Given the description of an element on the screen output the (x, y) to click on. 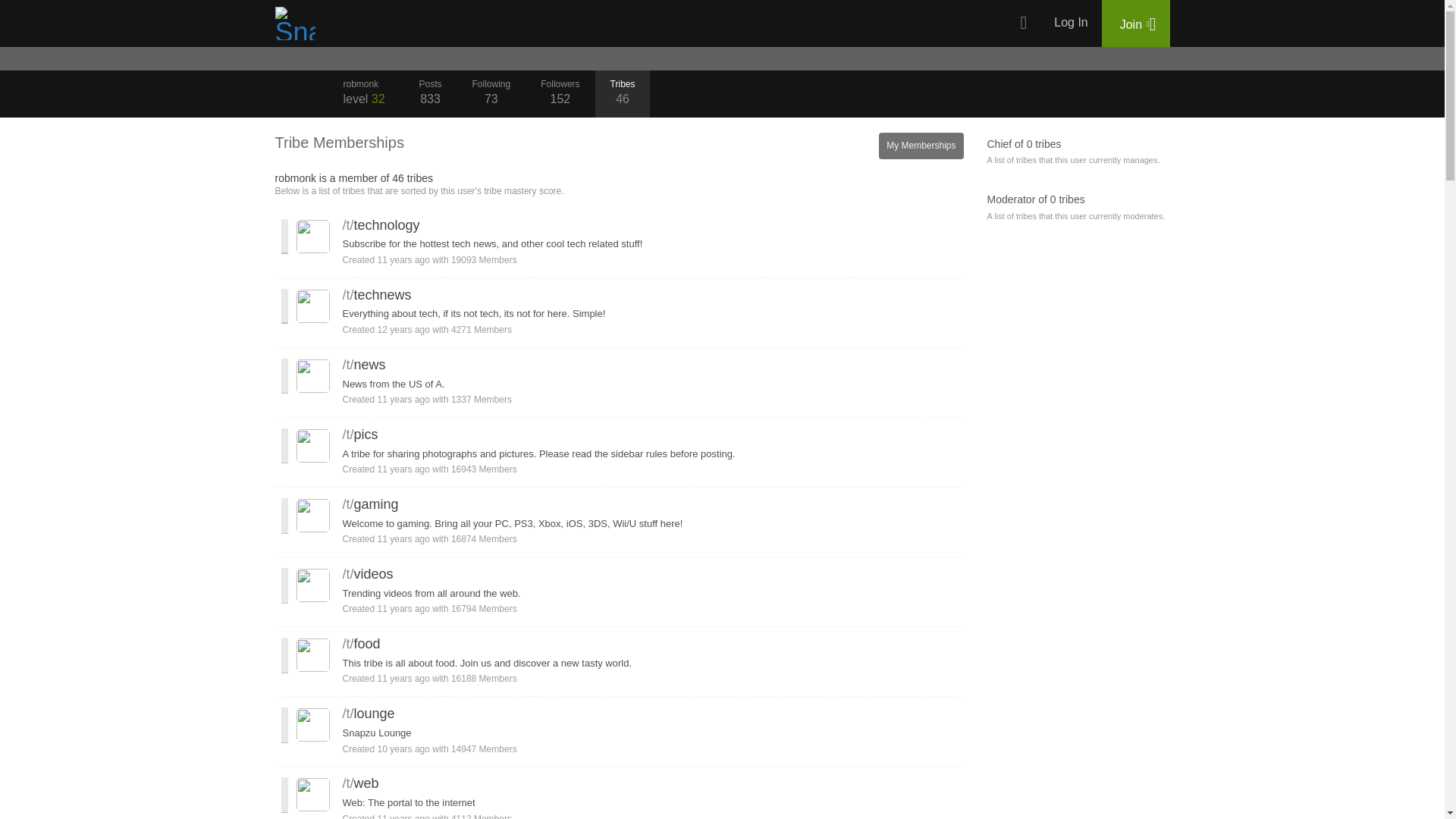
Join (365, 93)
Log In (430, 93)
My Memberships (1136, 23)
